Given the description of an element on the screen output the (x, y) to click on. 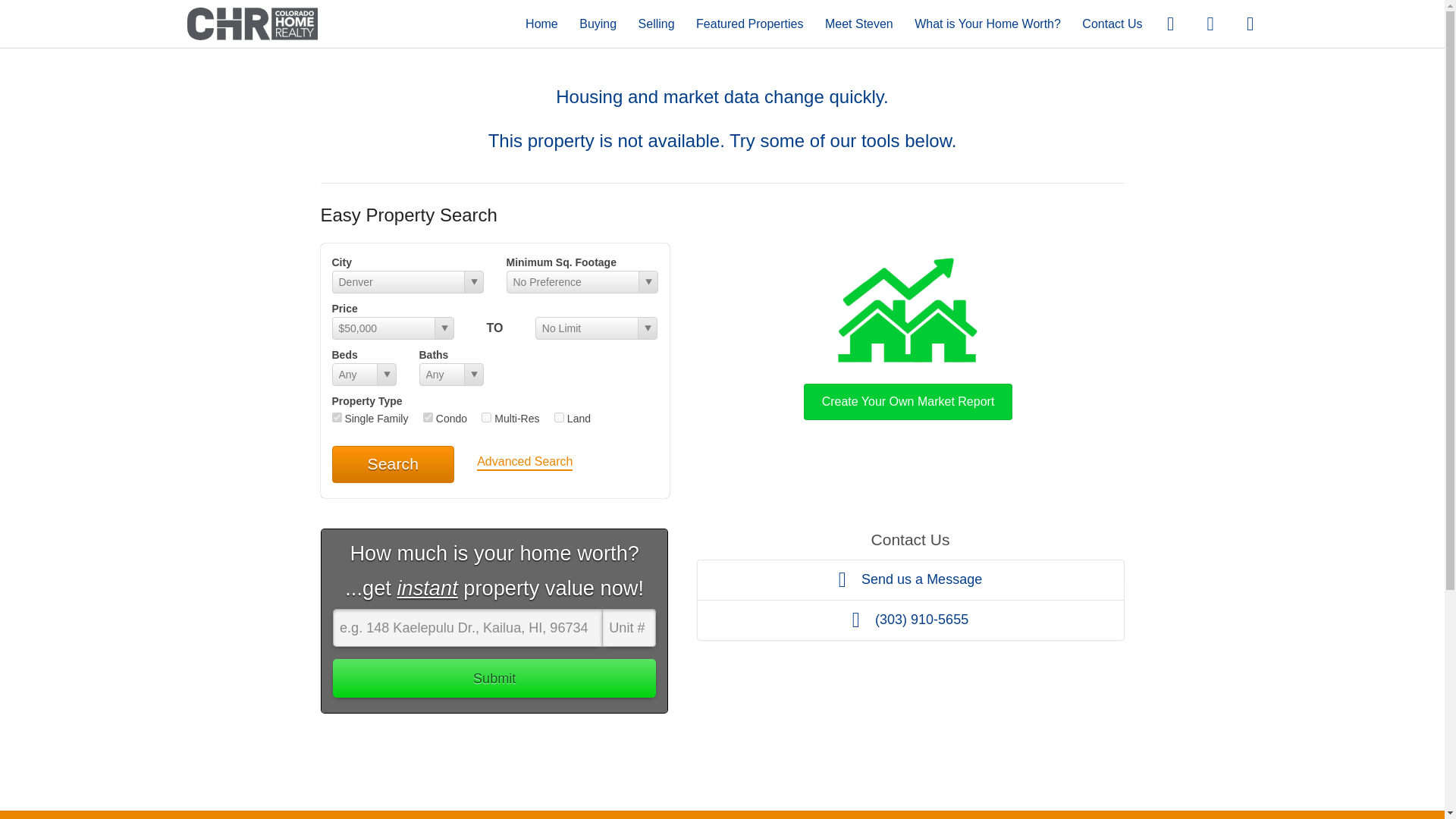
Create Your Own Market Report (907, 335)
Buying (597, 23)
Search (392, 463)
What is Your Home Worth? (987, 23)
con (427, 417)
lnd (559, 417)
Send us a Message (909, 579)
mul (486, 417)
Featured Properties (749, 23)
Home (541, 23)
Meet Steven (859, 23)
Selling (657, 23)
Advanced Search (524, 462)
Search (392, 463)
Contact Us (1111, 23)
